Given the description of an element on the screen output the (x, y) to click on. 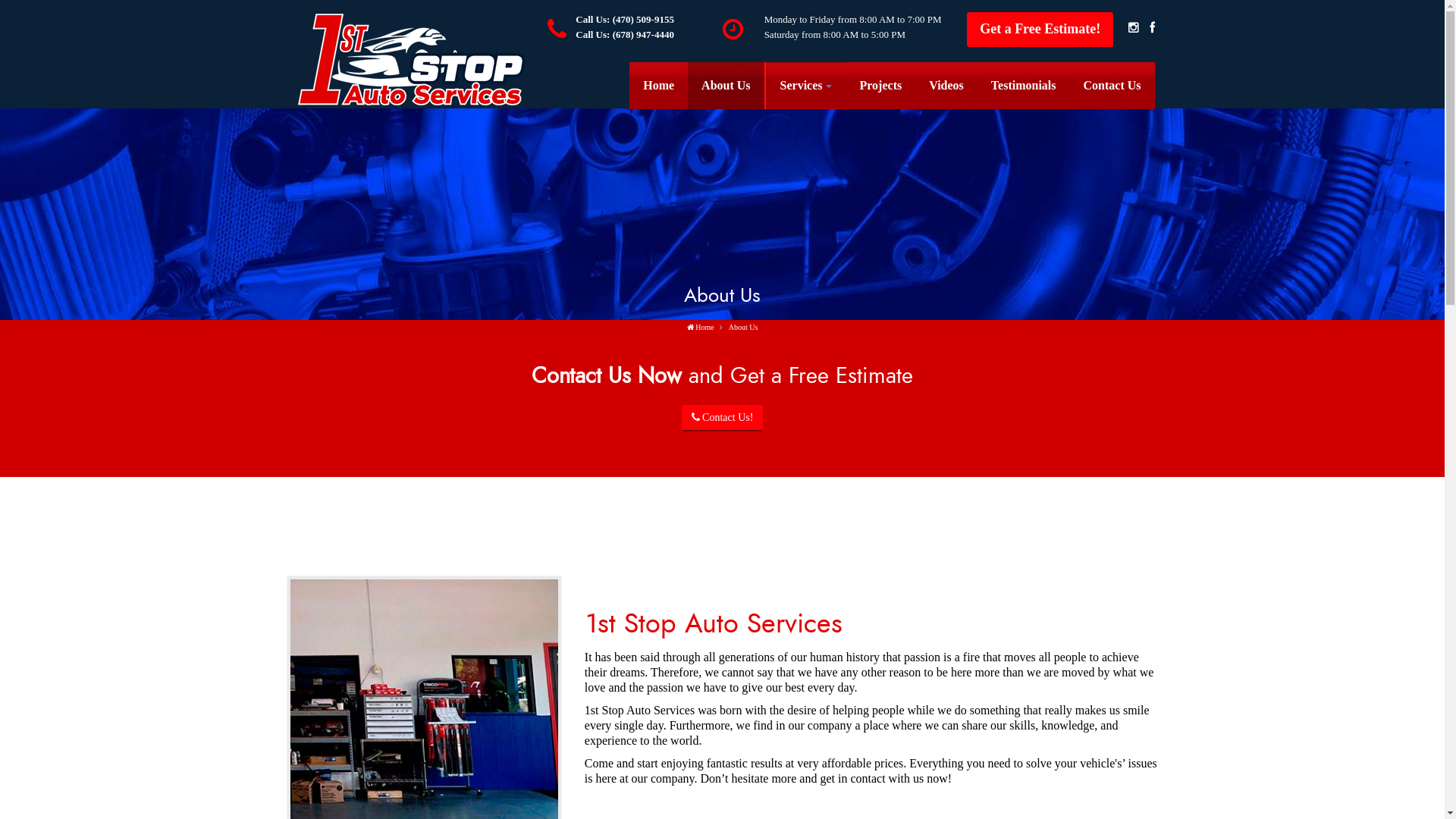
About Us Element type: text (726, 85)
Home Element type: text (658, 85)
Call Us: (678) 947-4440 Element type: text (624, 34)
Contact Us! Element type: text (722, 417)
Call Us: (470) 509-9155 Element type: text (624, 19)
instagram Element type: hover (1130, 28)
Home Element type: text (700, 327)
Contact Us Element type: text (1111, 85)
Testimonials Element type: text (1023, 85)
Services Element type: text (805, 85)
Projects Element type: text (881, 85)
Facebook Element type: hover (1148, 28)
Videos Element type: text (946, 85)
Get a Free Estimate! Element type: text (1039, 29)
